Given the description of an element on the screen output the (x, y) to click on. 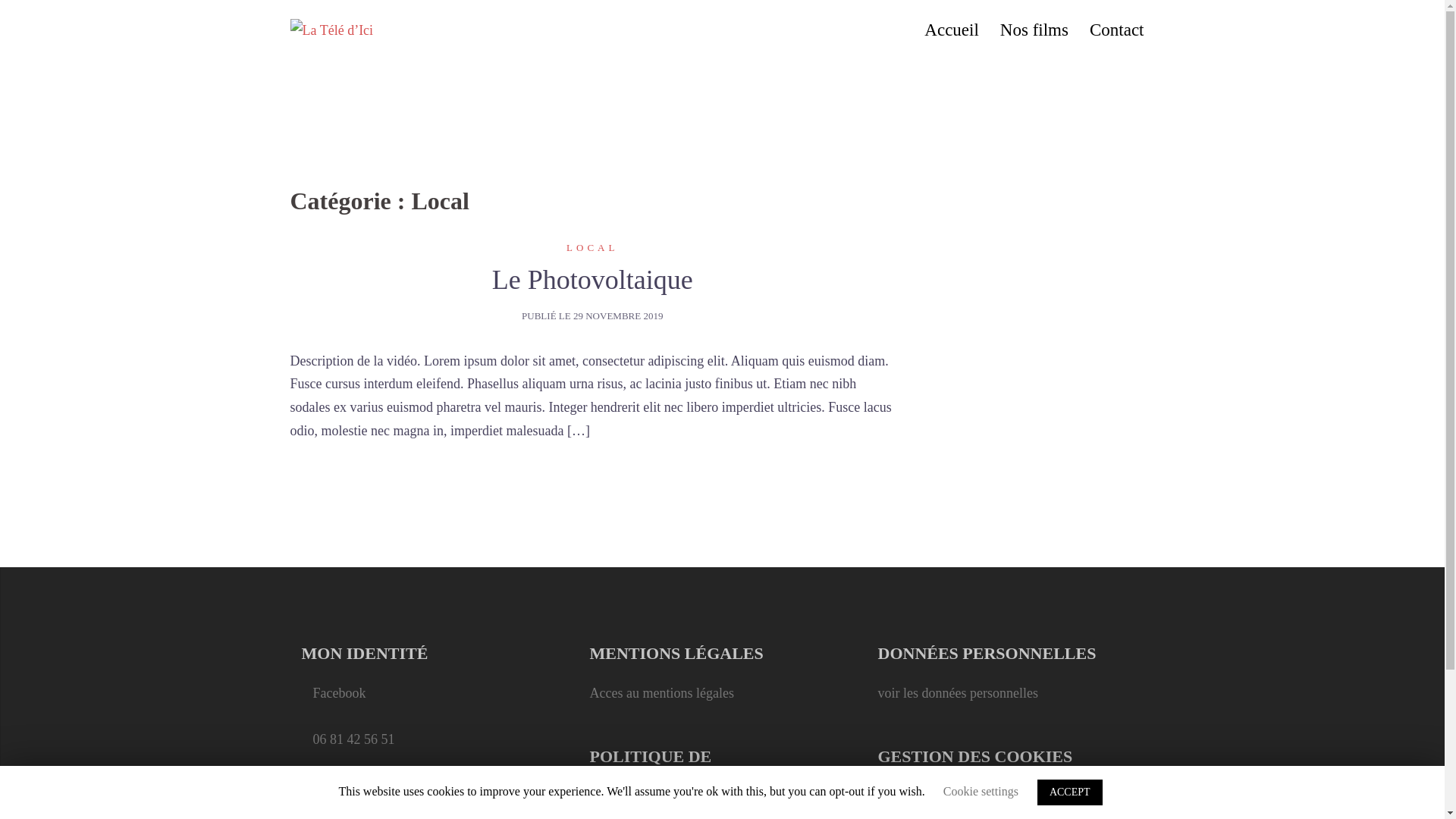
LOCAL Element type: text (592, 247)
Aller au contenu Element type: text (0, 0)
Cookie settings Element type: text (920, 795)
Facebook Element type: text (338, 692)
Le Photovoltaique Element type: text (592, 279)
Cookie settings Element type: text (980, 790)
06 81 42 56 51 Element type: text (353, 738)
Contact Element type: text (1116, 29)
Nos films Element type: text (1034, 29)
ACCEPT Element type: text (1069, 792)
Accueil Element type: text (951, 29)
29 NOVEMBRE 2019 Element type: text (617, 315)
